Given the description of an element on the screen output the (x, y) to click on. 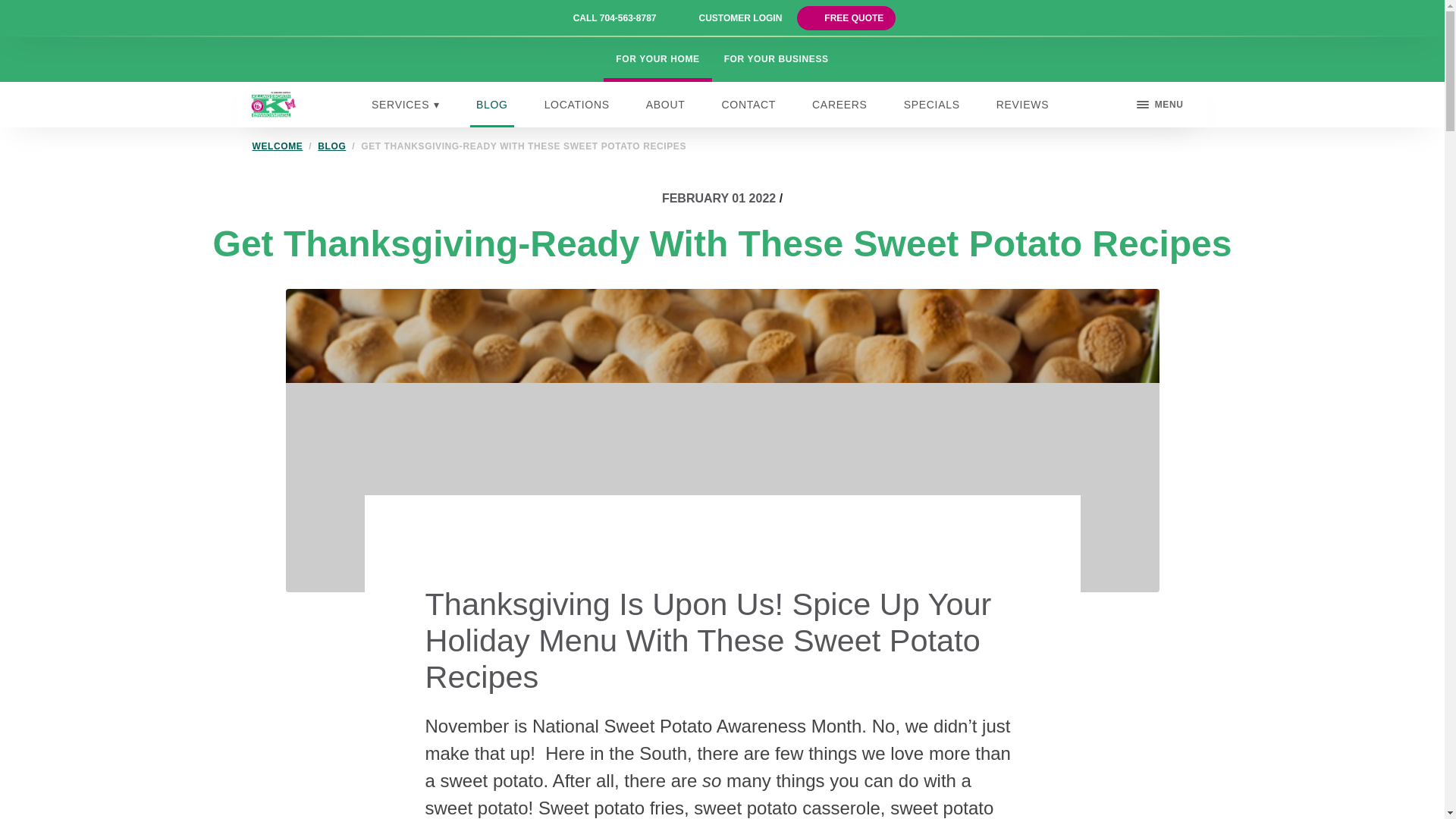
Welcome (276, 146)
CUSTOMER LOGIN (740, 17)
LOCATIONS (576, 104)
CONTACT (749, 104)
FOR YOUR BUSINESS (776, 58)
ABOUT (665, 104)
REVIEWS (1022, 104)
SERVICES (405, 104)
CALL 704-563-8787 (614, 17)
FOR YOUR HOME (657, 58)
Blog (331, 146)
FREE QUOTE (853, 17)
MENU (1160, 104)
CAREERS (839, 104)
